Given the description of an element on the screen output the (x, y) to click on. 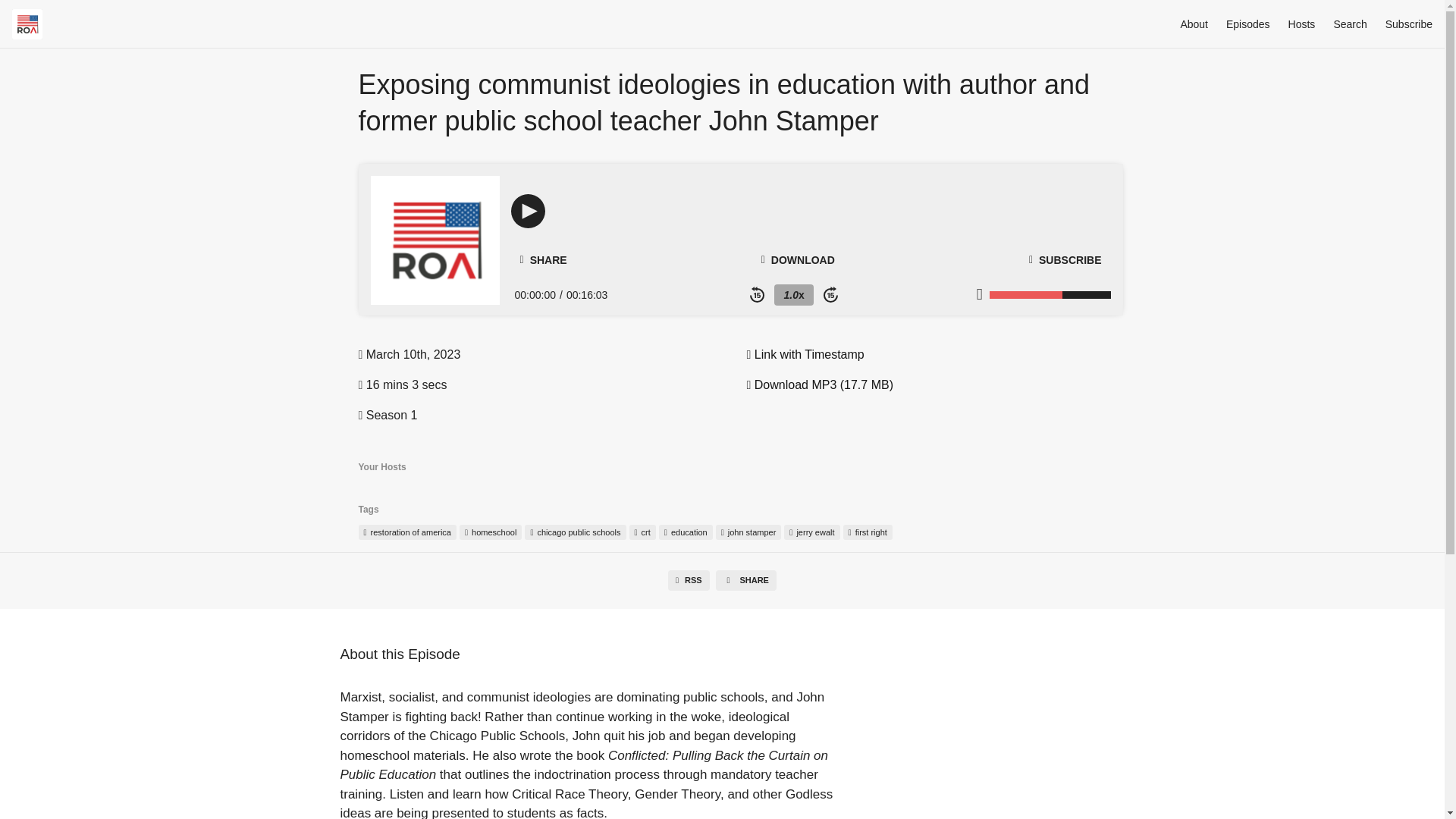
Link with Timestamp (804, 354)
RSS (689, 580)
restoration of america (406, 531)
SUBSCRIBE (1065, 259)
About (1193, 24)
Search (1350, 24)
chicago public schools (575, 531)
jerry ewalt (812, 531)
first right (867, 531)
DOWNLOAD (798, 259)
